Given the description of an element on the screen output the (x, y) to click on. 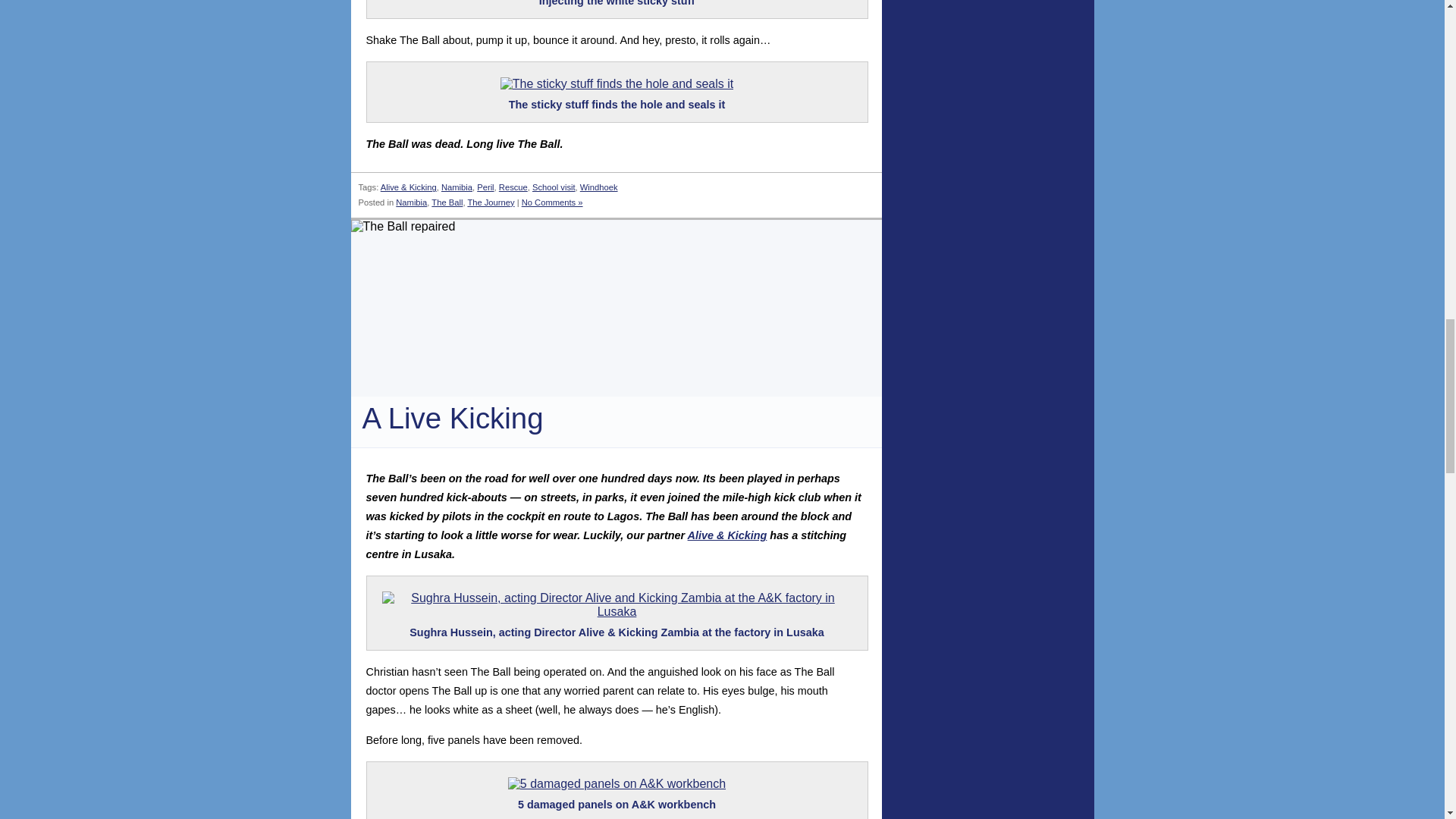
The Journey (490, 202)
School visit (553, 186)
The Ball (446, 202)
Rescue (513, 186)
Namibia (456, 186)
Windhoek (598, 186)
Namibia (411, 202)
Peril (485, 186)
